Given the description of an element on the screen output the (x, y) to click on. 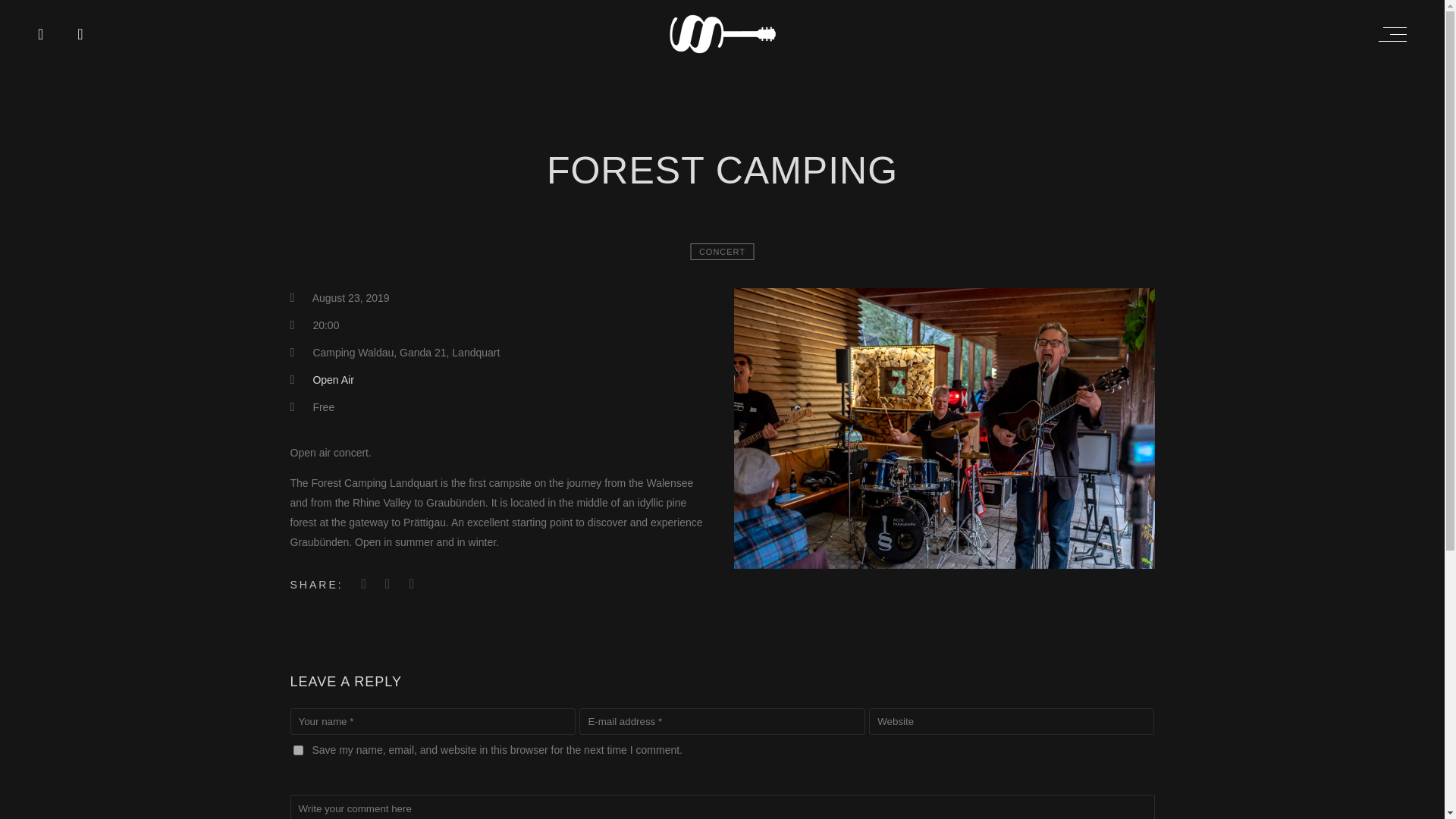
Open Air (333, 379)
CONCERT (722, 251)
